Given the description of an element on the screen output the (x, y) to click on. 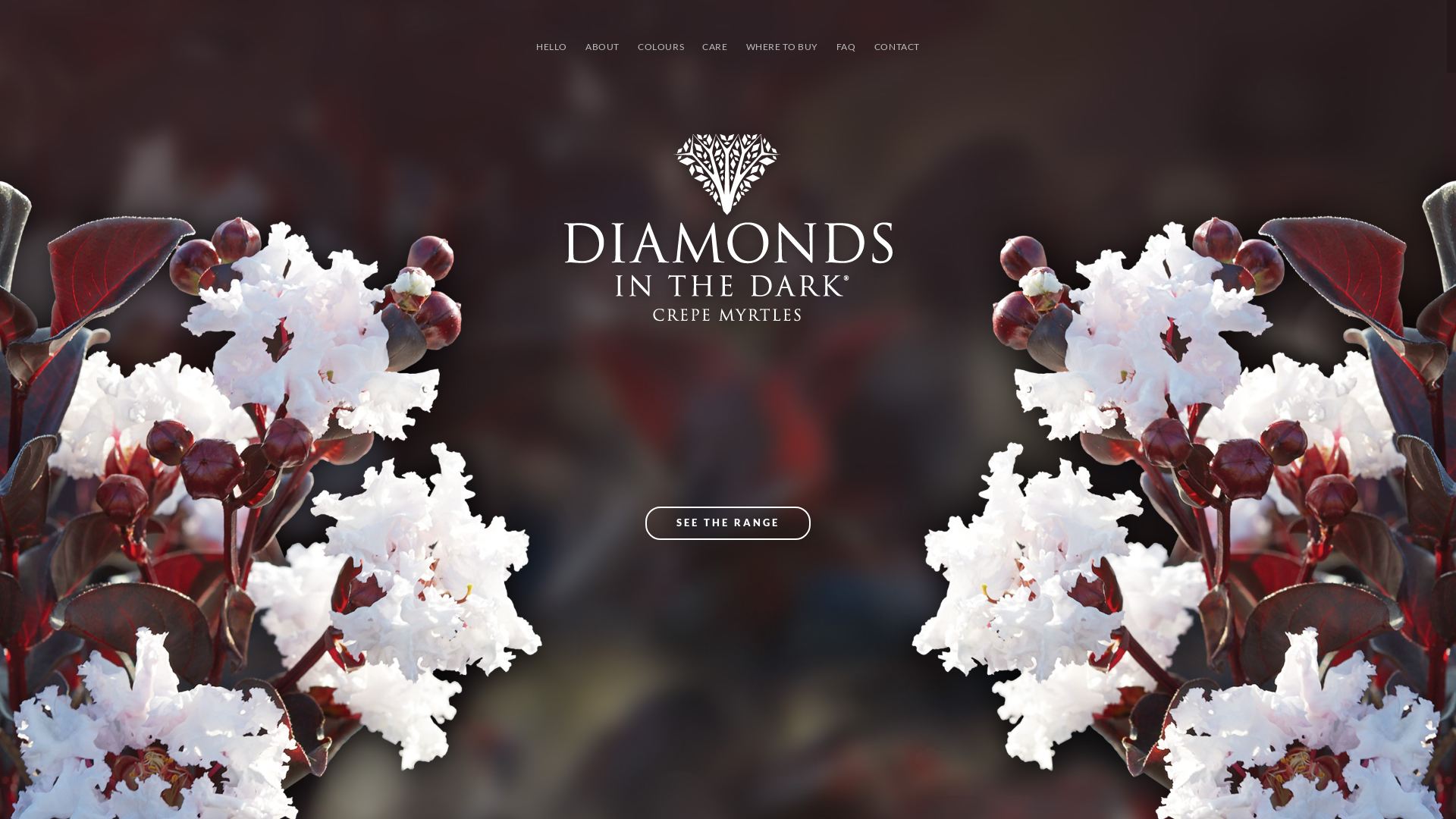
HELLO Element type: text (551, 46)
ABOUT Element type: text (602, 46)
WHERE TO BUY Element type: text (782, 46)
SEE THE RANGE Element type: text (727, 522)
FAQ Element type: text (846, 46)
COLOURS Element type: text (660, 46)
CARE Element type: text (714, 46)
CONTACT Element type: text (896, 46)
